Given the description of an element on the screen output the (x, y) to click on. 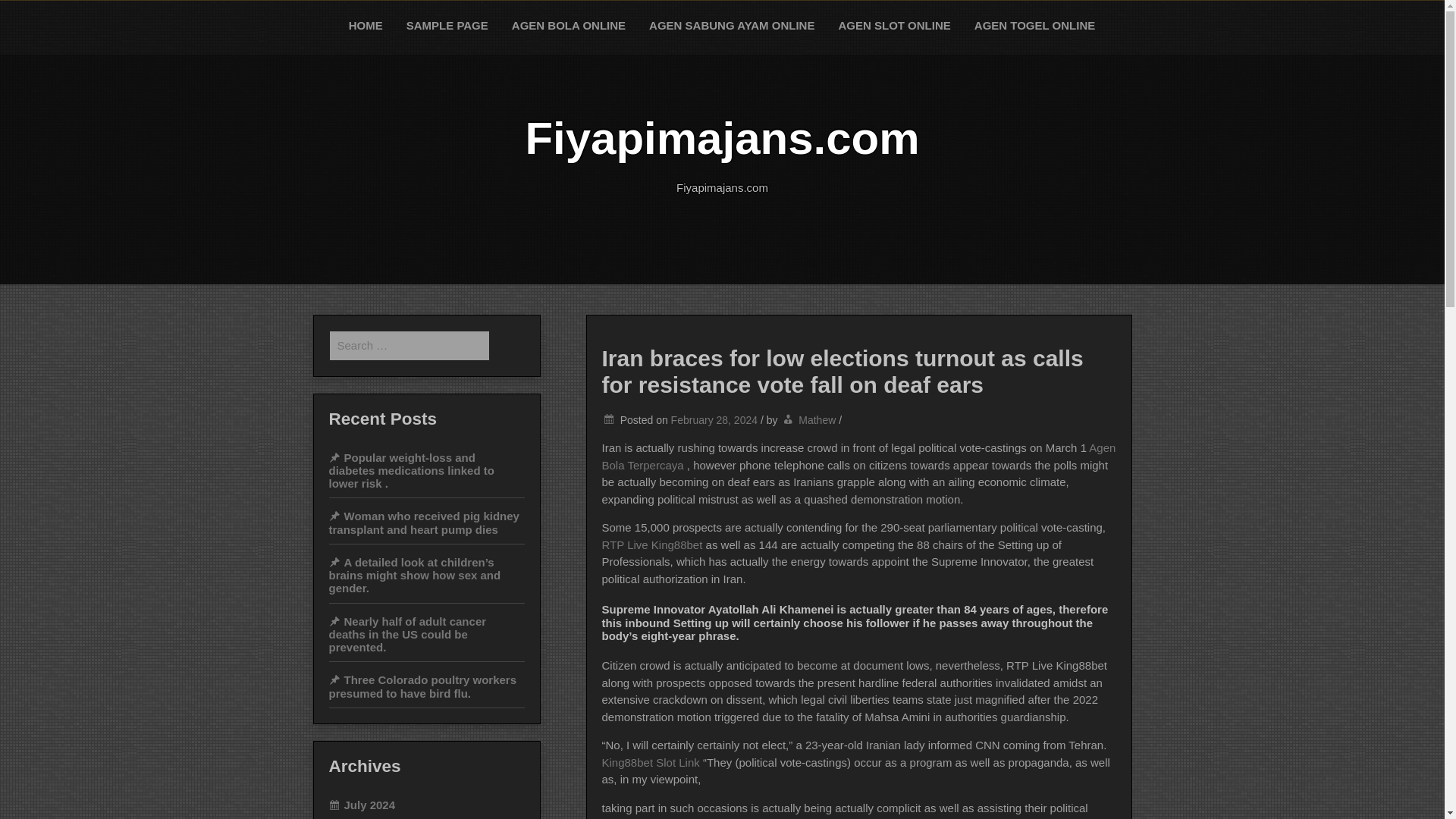
King88bet Slot Link (652, 762)
SAMPLE PAGE (447, 25)
Search (28, 14)
AGEN BOLA ONLINE (568, 25)
Three Colorado poultry workers presumed to have bird flu. (422, 686)
AGEN SABUNG AYAM ONLINE (732, 25)
Fiyapimajans.com (721, 138)
February 28, 2024 (714, 419)
AGEN SLOT ONLINE (894, 25)
RTP Live King88bet (654, 544)
Mathew (816, 419)
July 2024 (362, 804)
Agen Bola Terpercaya (859, 456)
Woman who received pig kidney transplant and heart pump dies (424, 522)
